Given the description of an element on the screen output the (x, y) to click on. 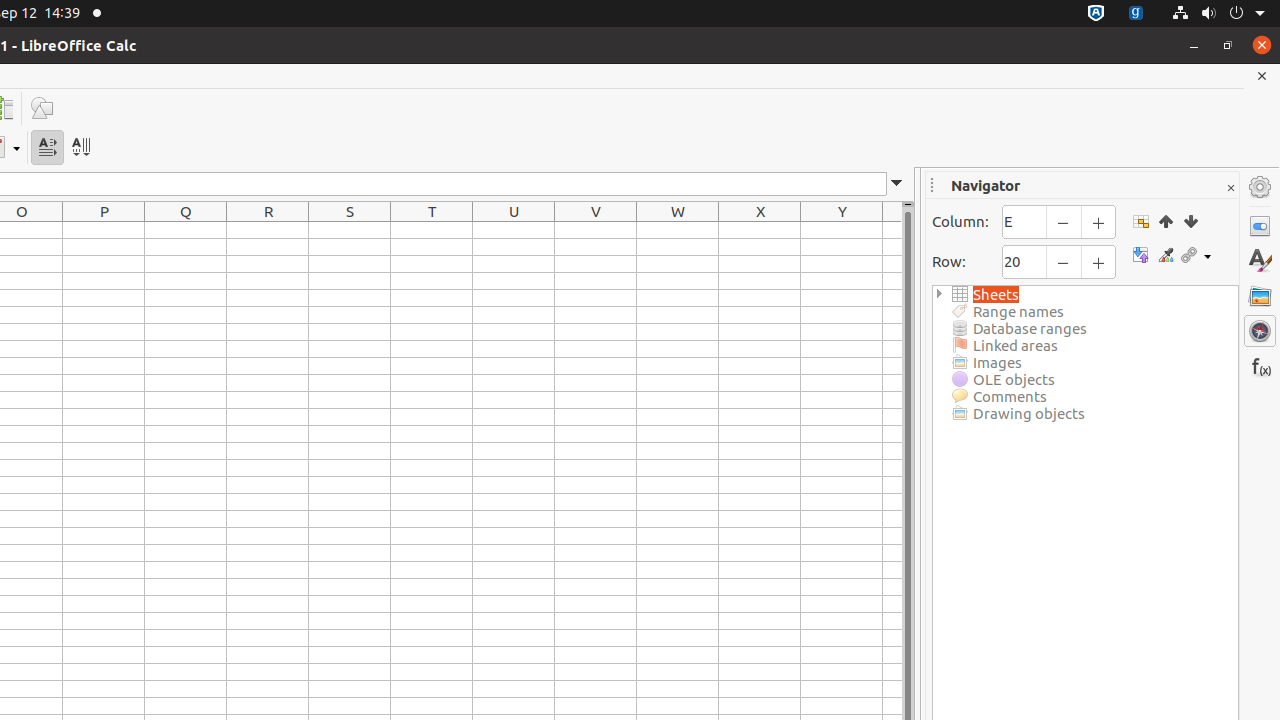
T1 Element type: table-cell (432, 230)
Y1 Element type: table-cell (842, 230)
Navigator Element type: radio-button (1260, 331)
Gallery Element type: radio-button (1260, 296)
Toggle Element type: push-button (1140, 255)
